Given the description of an element on the screen output the (x, y) to click on. 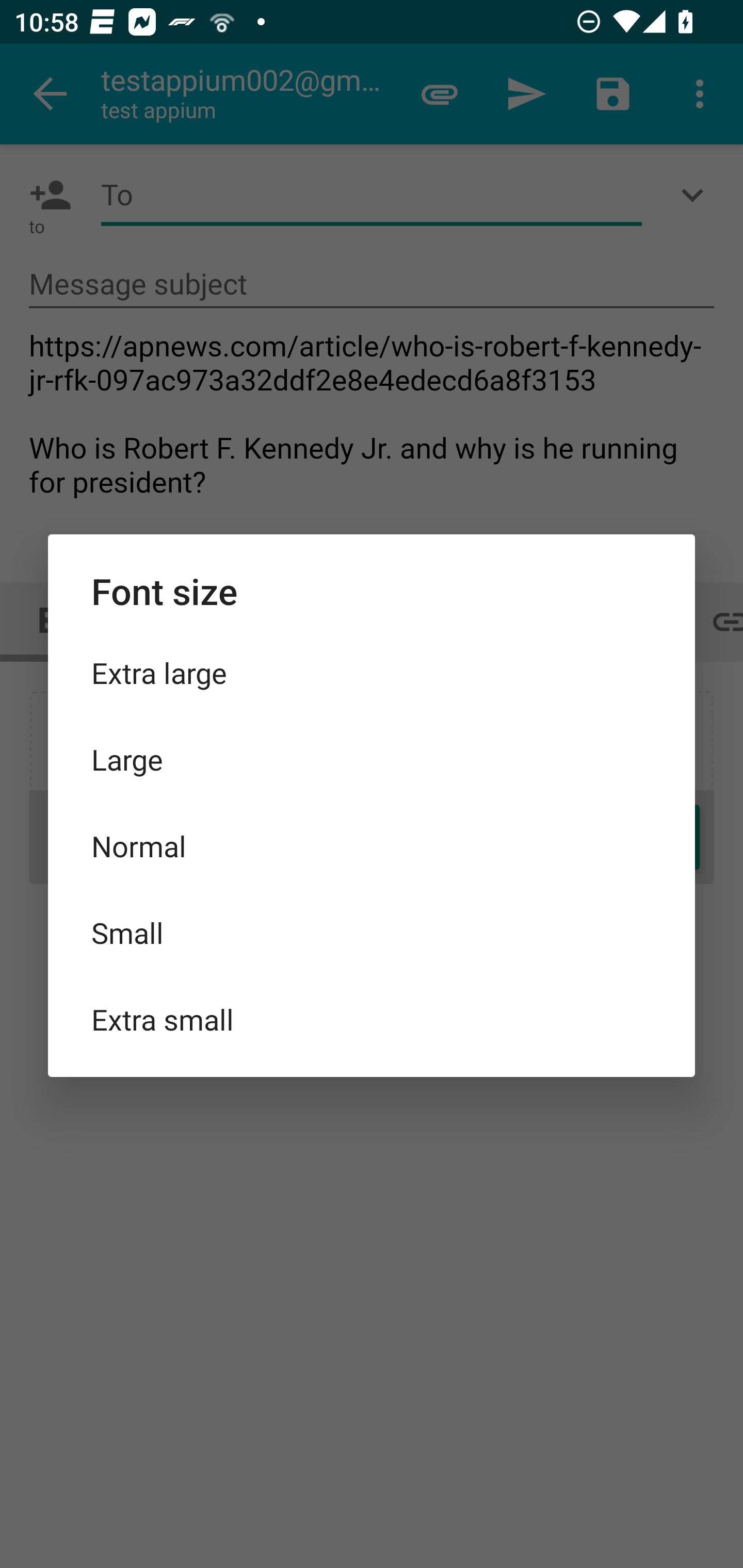
Extra large (371, 672)
Large (371, 759)
Normal (371, 845)
Small (371, 932)
Extra small (371, 1019)
